Given the description of an element on the screen output the (x, y) to click on. 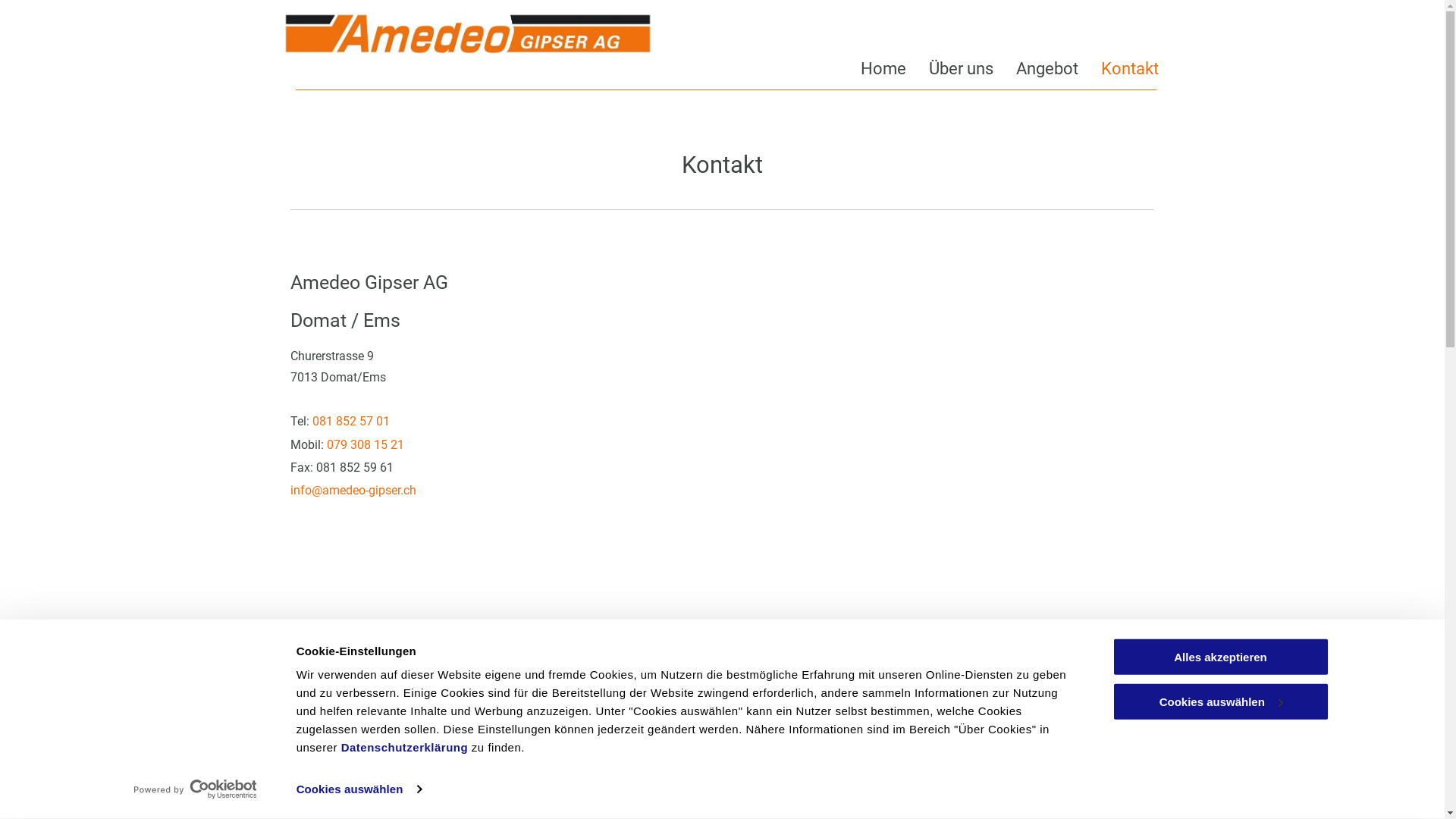
Angebot Element type: text (1035, 68)
Alles akzeptieren Element type: text (1219, 656)
Home Element type: text (871, 68)
079 308 15 21 Element type: text (365, 443)
Kontakt Element type: text (1118, 68)
081 852 57 01 Element type: text (350, 421)
info@amedeo-gipser.ch Element type: text (353, 490)
